Given the description of an element on the screen output the (x, y) to click on. 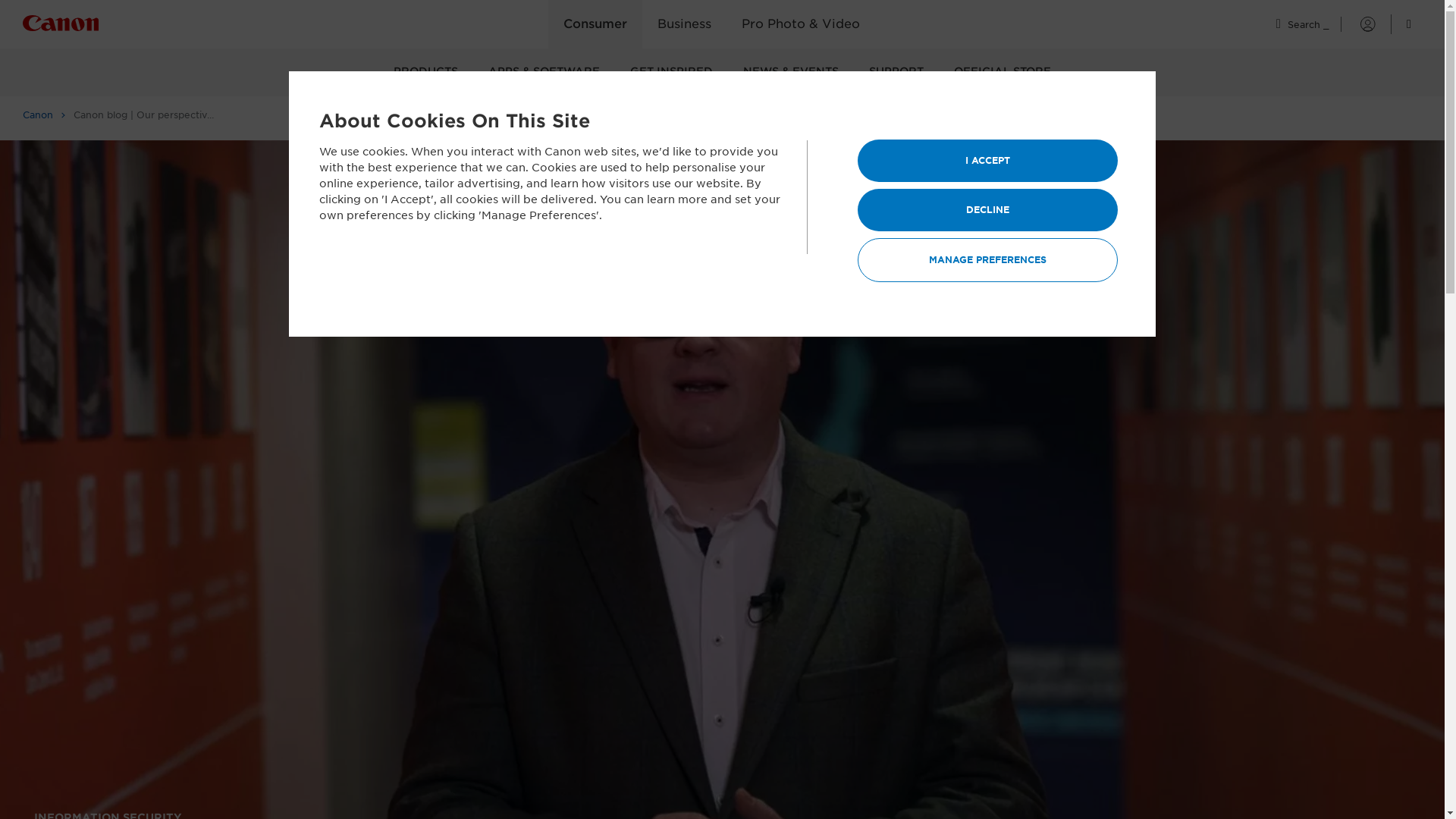
Business (684, 24)
Consumer (595, 24)
PRODUCTS (425, 72)
My Canon (1357, 23)
Canon Logo, back to home page (89, 25)
